Given the description of an element on the screen output the (x, y) to click on. 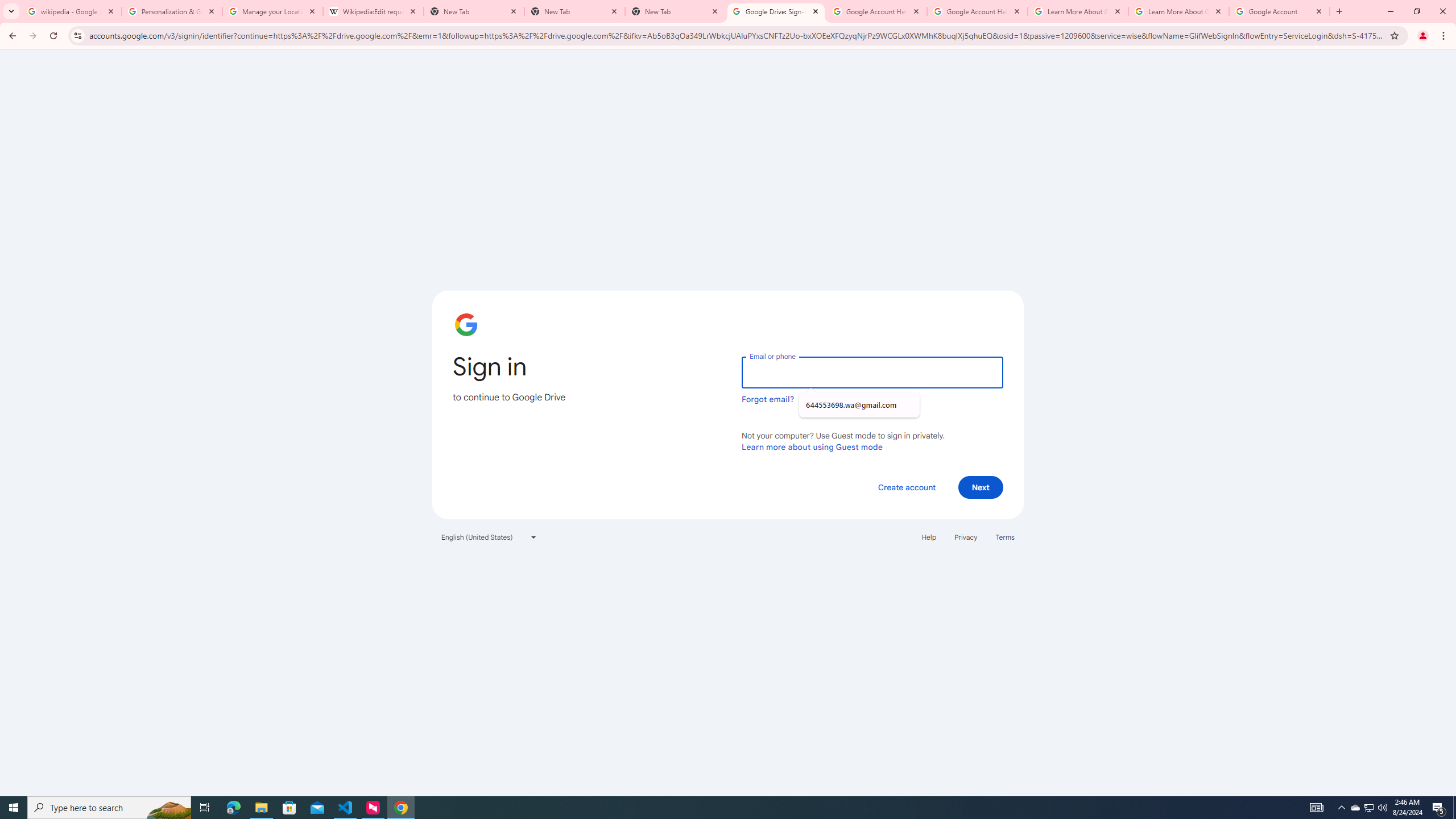
Google Account Help (876, 11)
Create account (905, 486)
Manage your Location History - Google Search Help (271, 11)
Google Drive: Sign-in (775, 11)
Learn more about using Guest mode (812, 446)
